Given the description of an element on the screen output the (x, y) to click on. 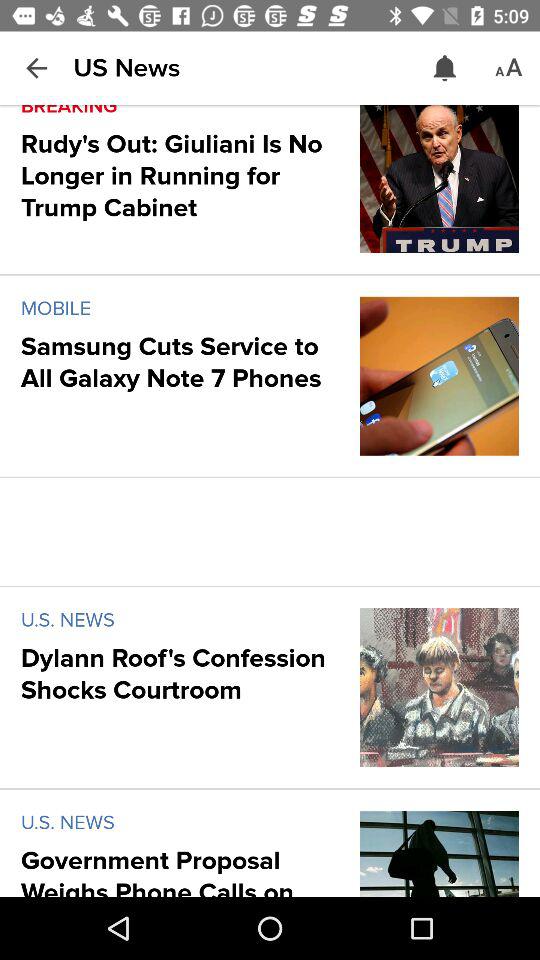
select icon to the left of us news (36, 68)
